Given the description of an element on the screen output the (x, y) to click on. 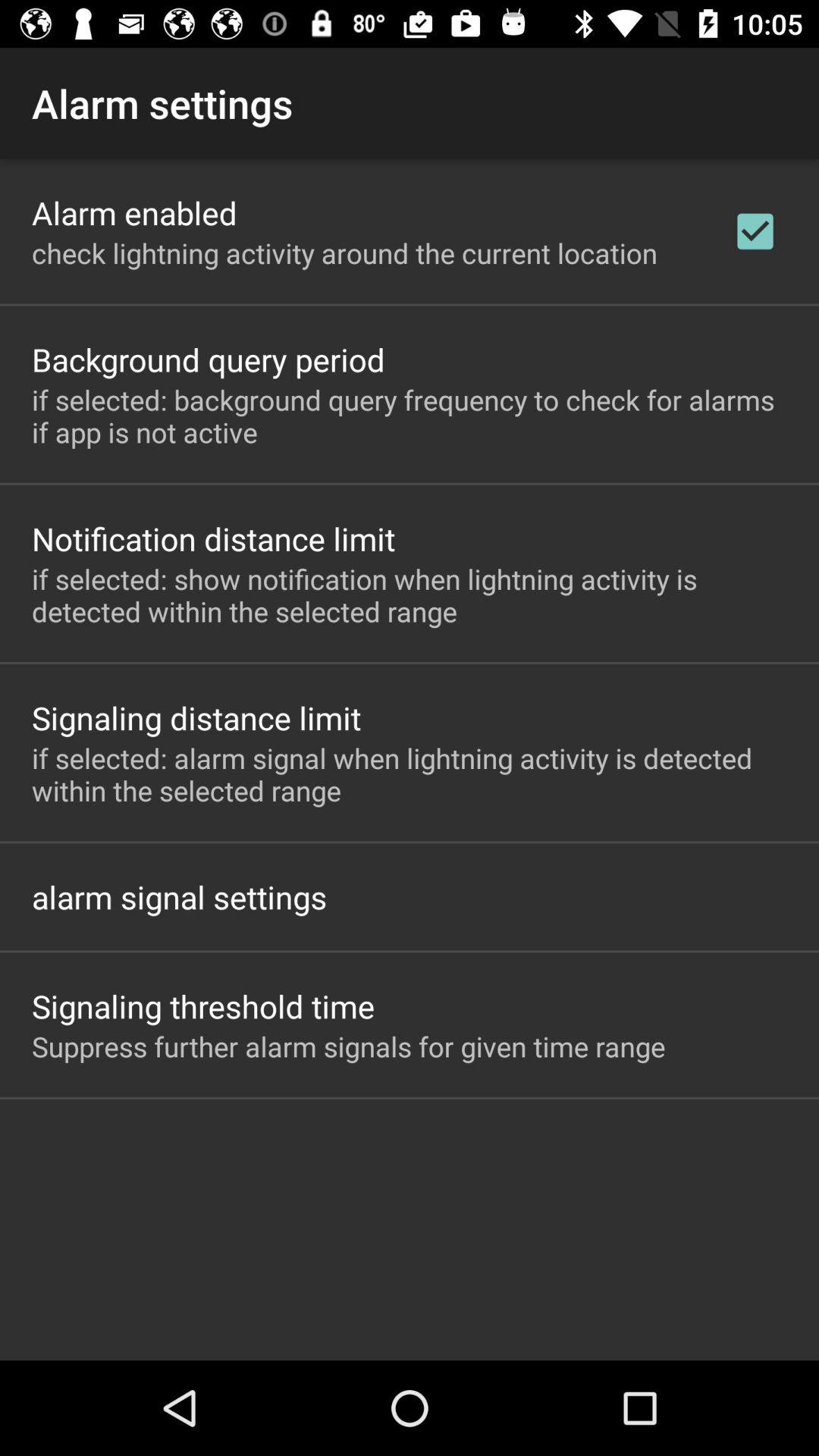
select the icon below alarm settings item (134, 212)
